Given the description of an element on the screen output the (x, y) to click on. 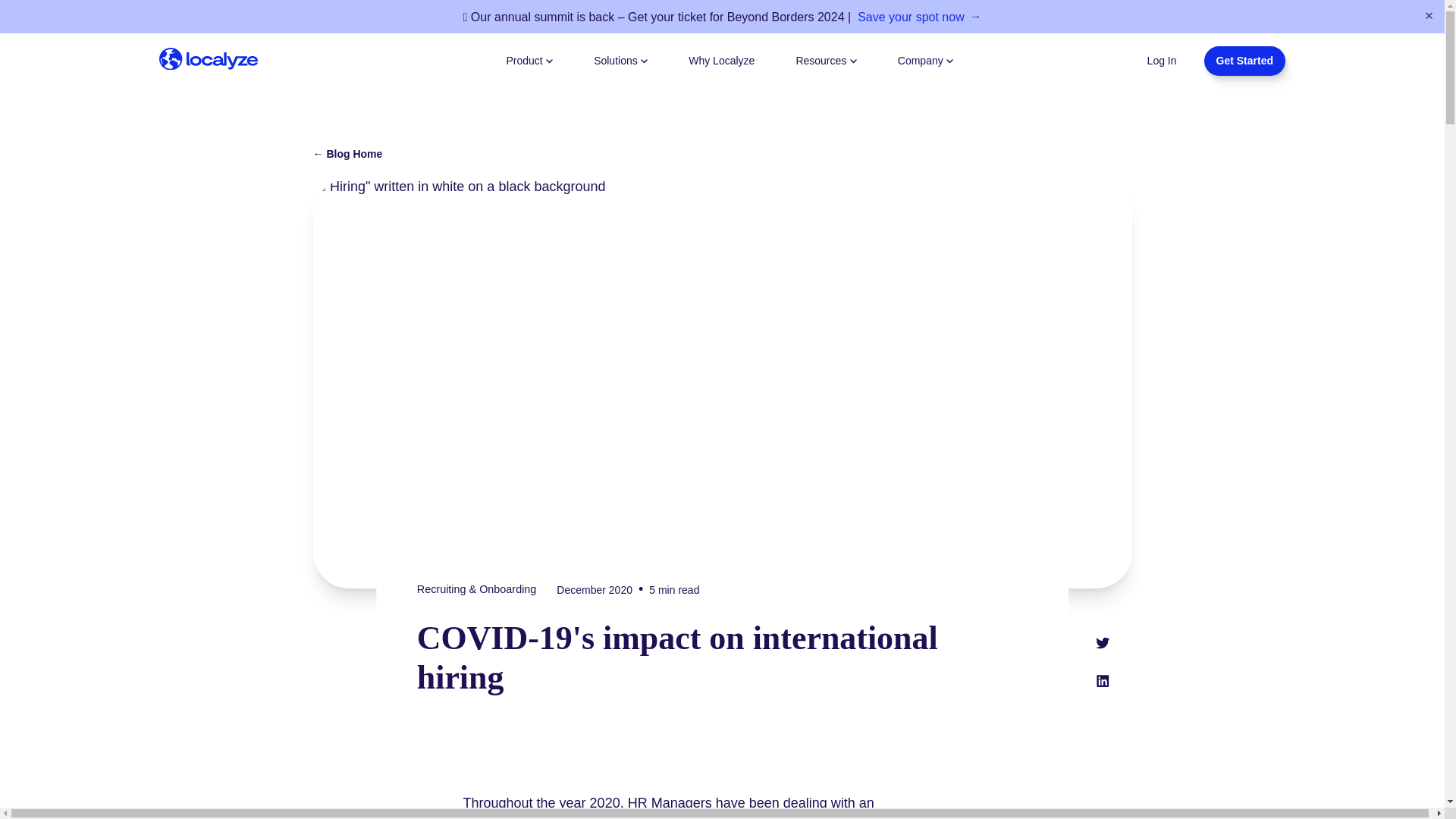
Company (925, 59)
Log In (1161, 59)
Resources (825, 59)
Solutions (620, 59)
Product (529, 59)
Why Localyze (721, 60)
Get Started (1244, 60)
